Given the description of an element on the screen output the (x, y) to click on. 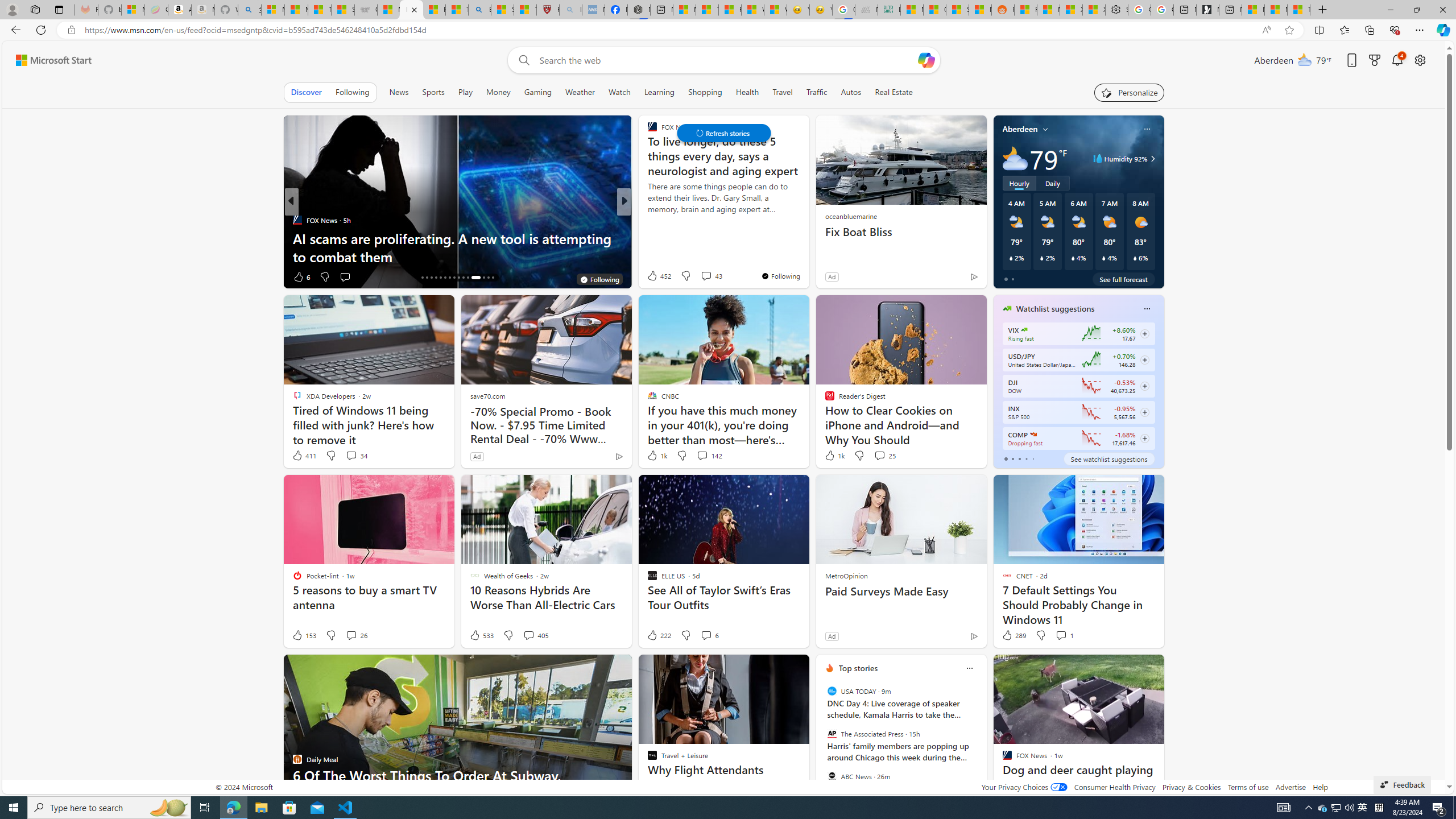
View comments 26 Comment (350, 635)
View comments 43 Comment (710, 275)
1k Like (833, 455)
View comments 34 Comment (355, 455)
